Given the description of an element on the screen output the (x, y) to click on. 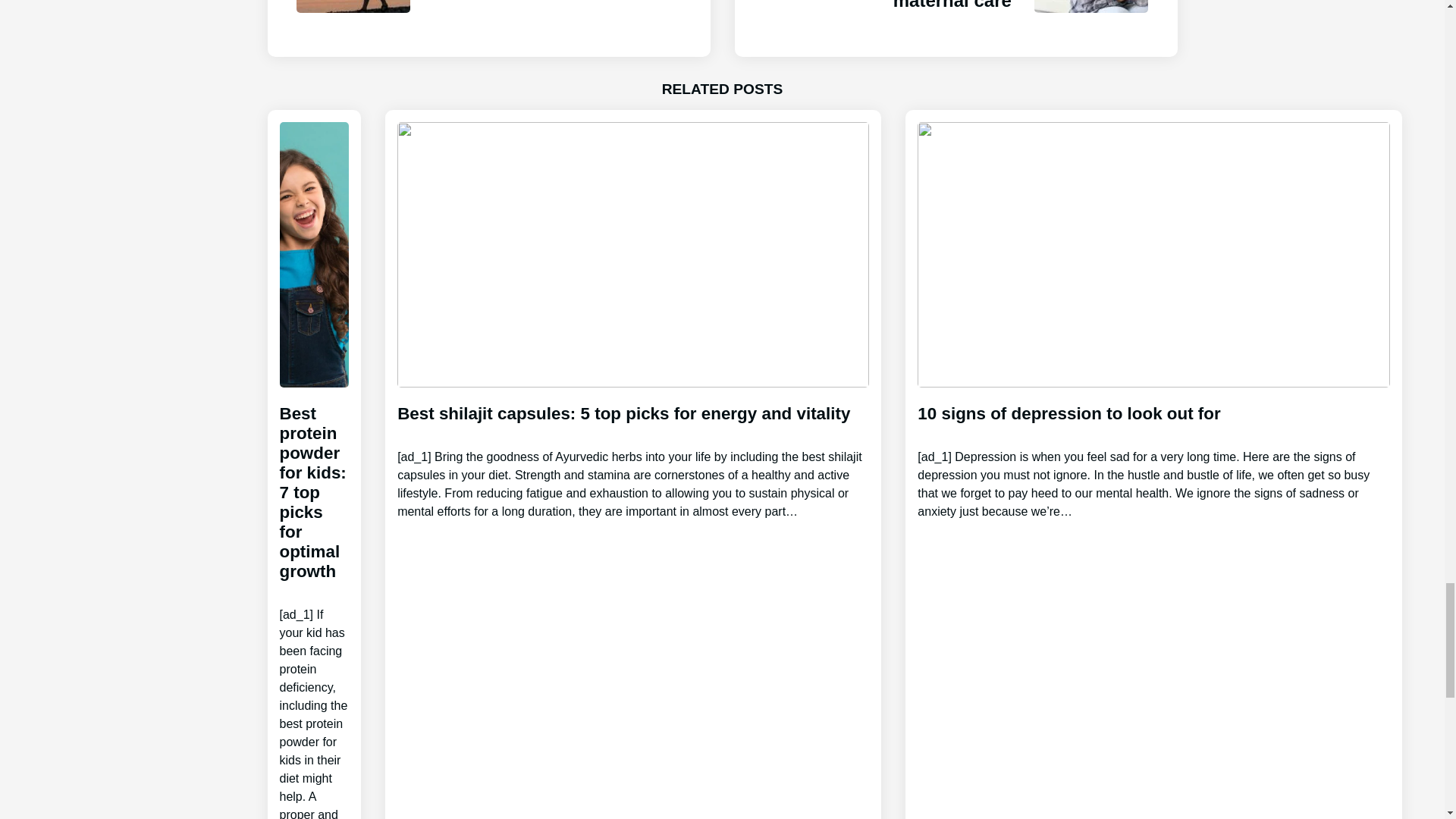
10 signs of depression to look out for (1153, 448)
Best shilajit capsules: 5 top picks for energy and vitality (633, 448)
